Given the description of an element on the screen output the (x, y) to click on. 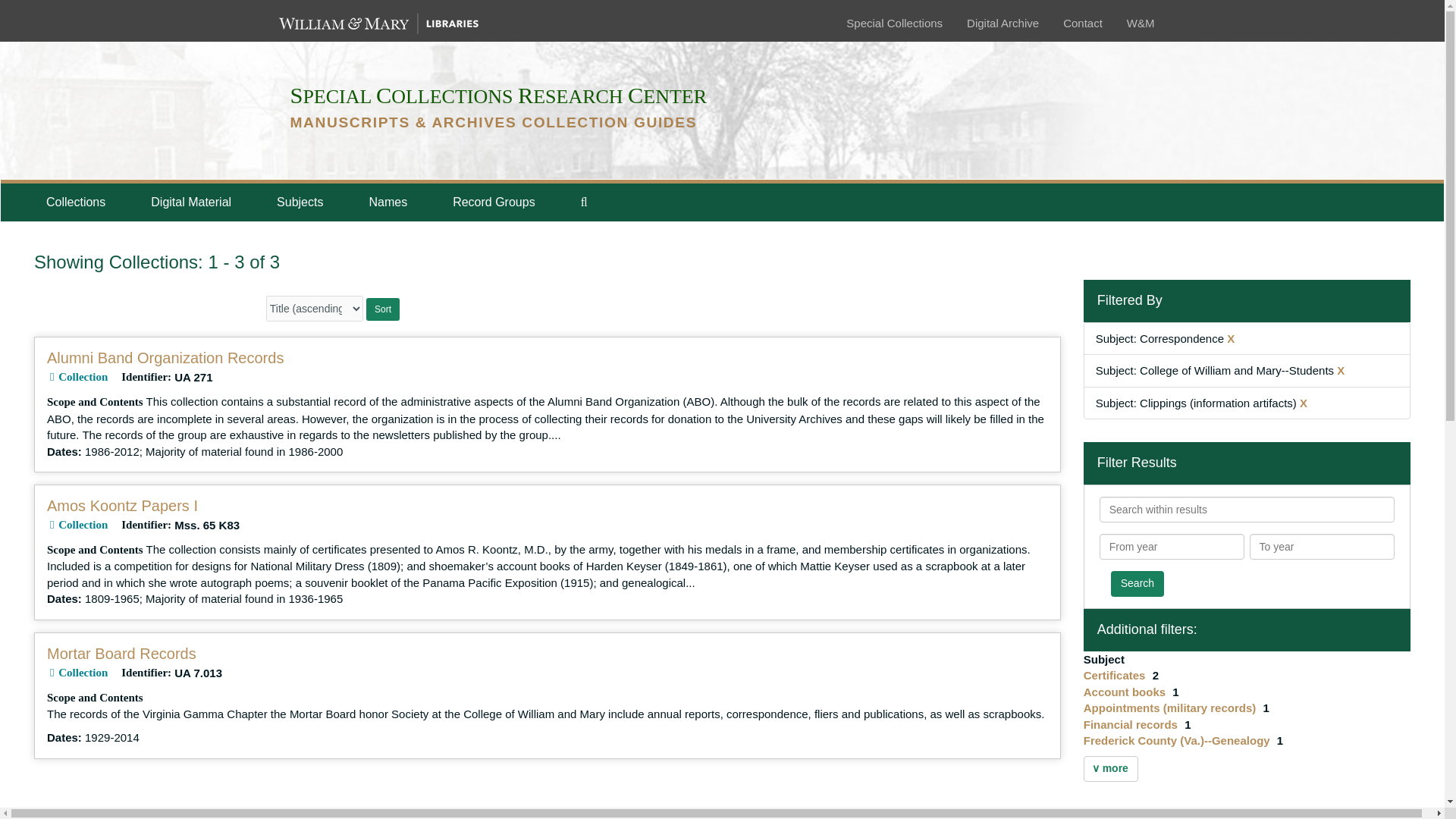
Filter By 'Account books' (1126, 691)
Collections (75, 202)
SPECIAL COLLECTIONS RESEARCH CENTER (497, 96)
Digital Archive (1002, 23)
Sort (382, 309)
Subjects (299, 202)
Amos Koontz Papers I (122, 505)
Contact (1082, 23)
Mortar Board Records (121, 653)
Search (1136, 583)
